Given the description of an element on the screen output the (x, y) to click on. 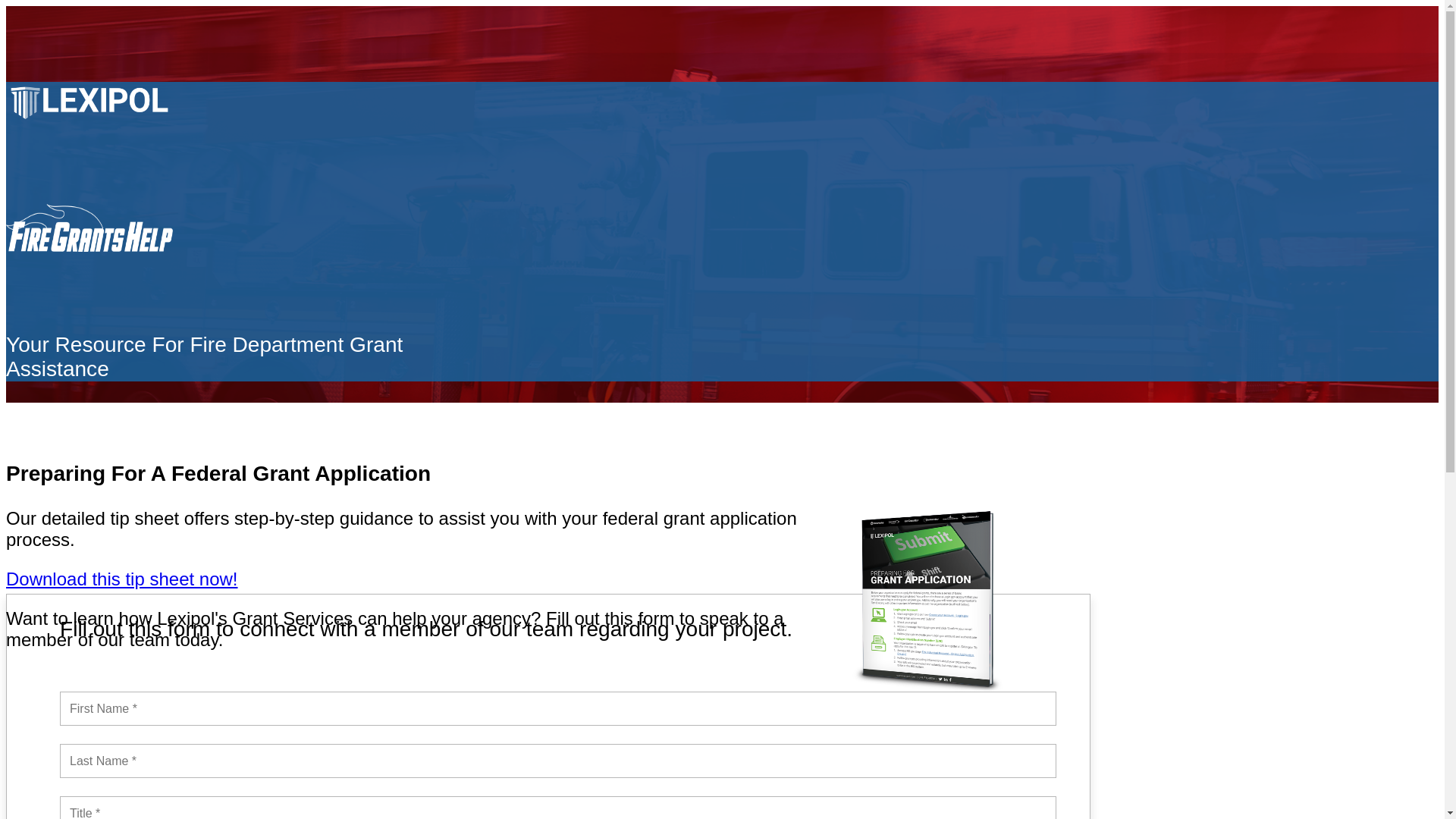
Download this tip sheet now! (121, 578)
